Given the description of an element on the screen output the (x, y) to click on. 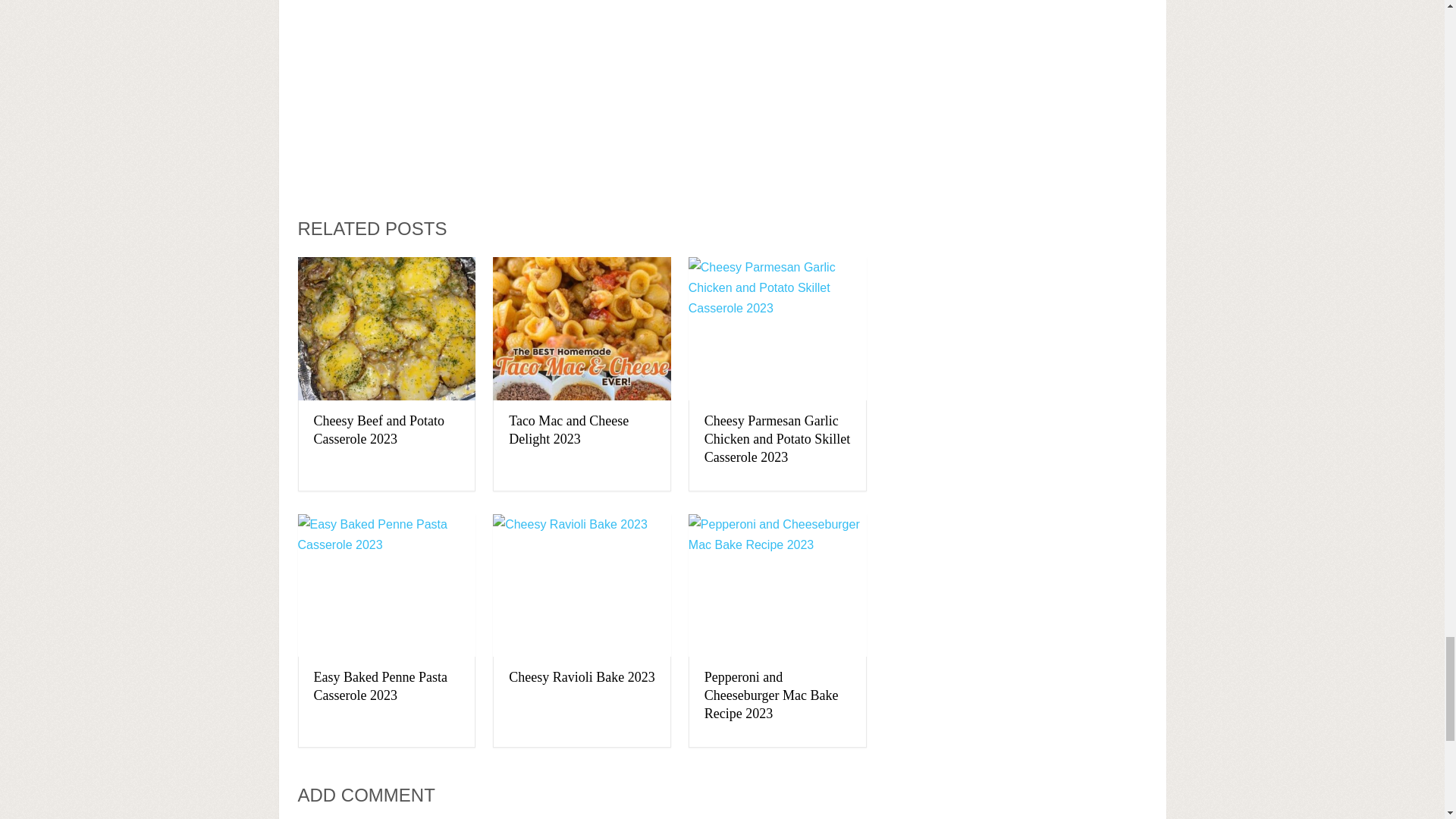
Taco Mac and Cheese Delight 2023 (568, 429)
Cheesy Beef and Potato Casserole 2023 (386, 328)
PREV ARTICLE (682, 164)
Pepperoni and Cheeseburger Mac Bake Recipe 2023 (771, 695)
Easy Baked Penne Pasta Casserole 2023 (380, 685)
Cheesy Ravioli Bake 2023 (580, 676)
Taco Mac and Cheese Delight 2023 (568, 429)
Taco Mac and Cheese Delight 2023 (582, 328)
